Given the description of an element on the screen output the (x, y) to click on. 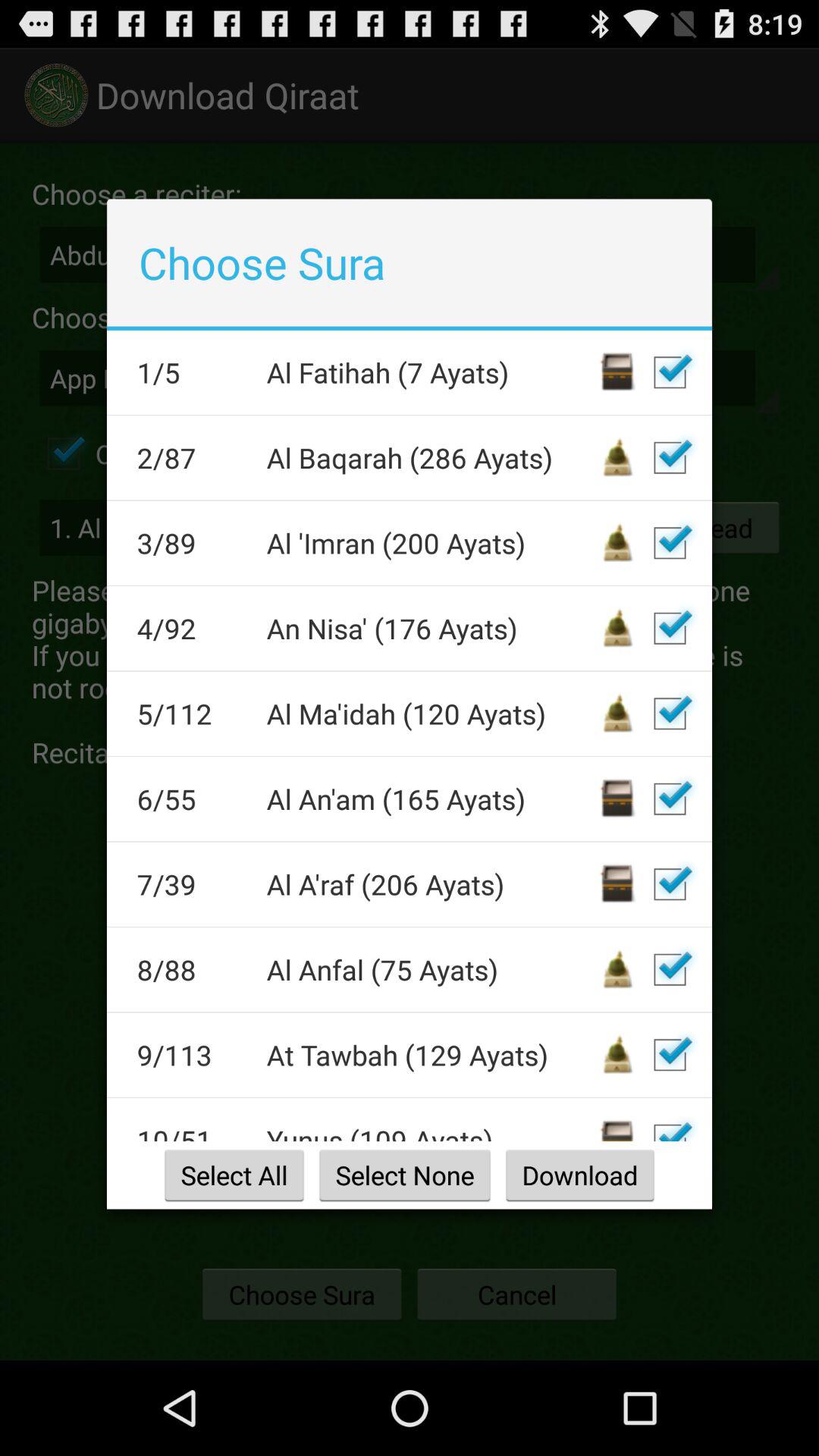
tap item below 2/87 app (191, 542)
